Given the description of an element on the screen output the (x, y) to click on. 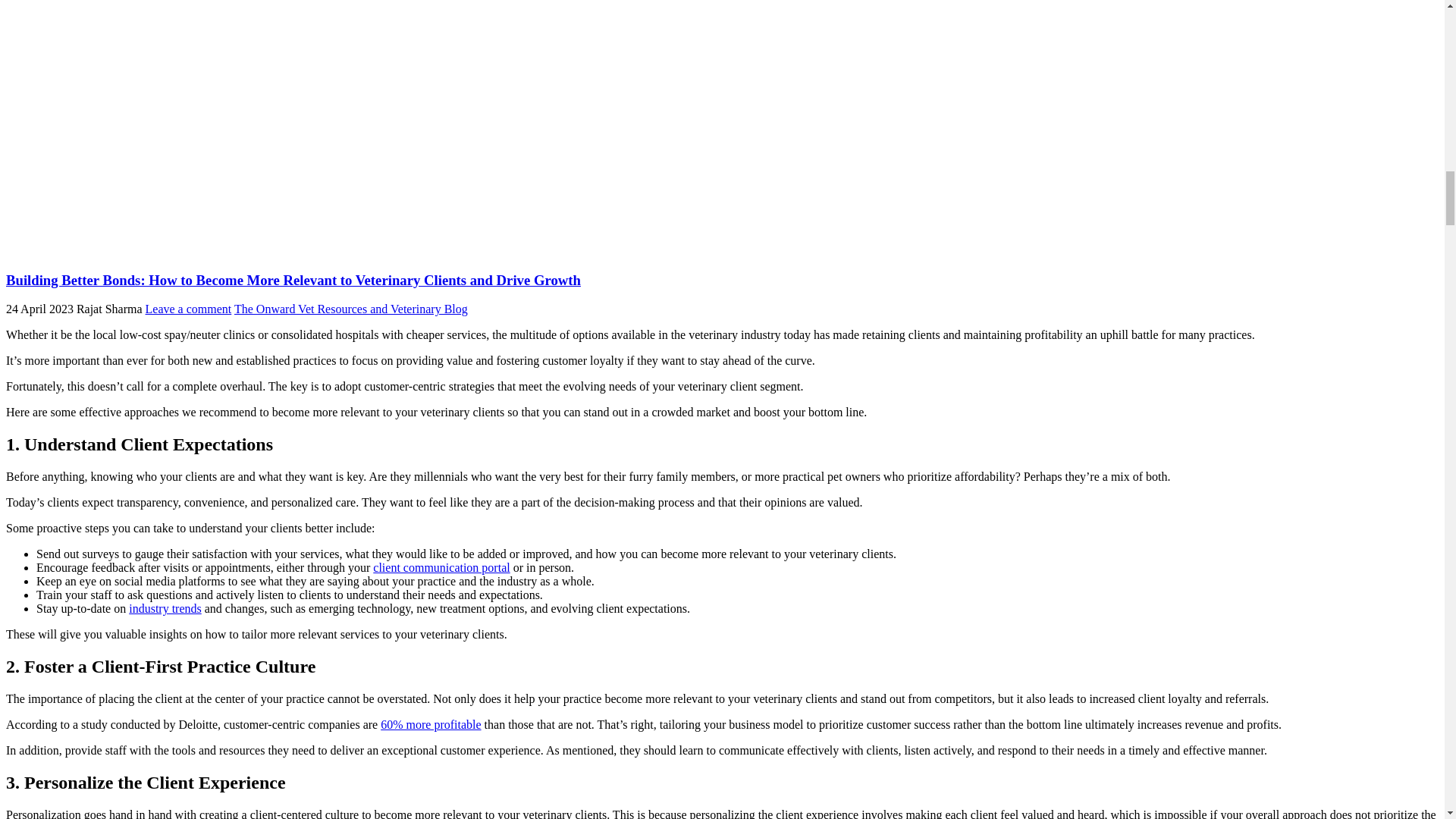
client communication portal (440, 567)
The Onward Vet Resources and Veterinary Blog (350, 308)
Leave a comment (188, 308)
industry trends (165, 608)
